Given the description of an element on the screen output the (x, y) to click on. 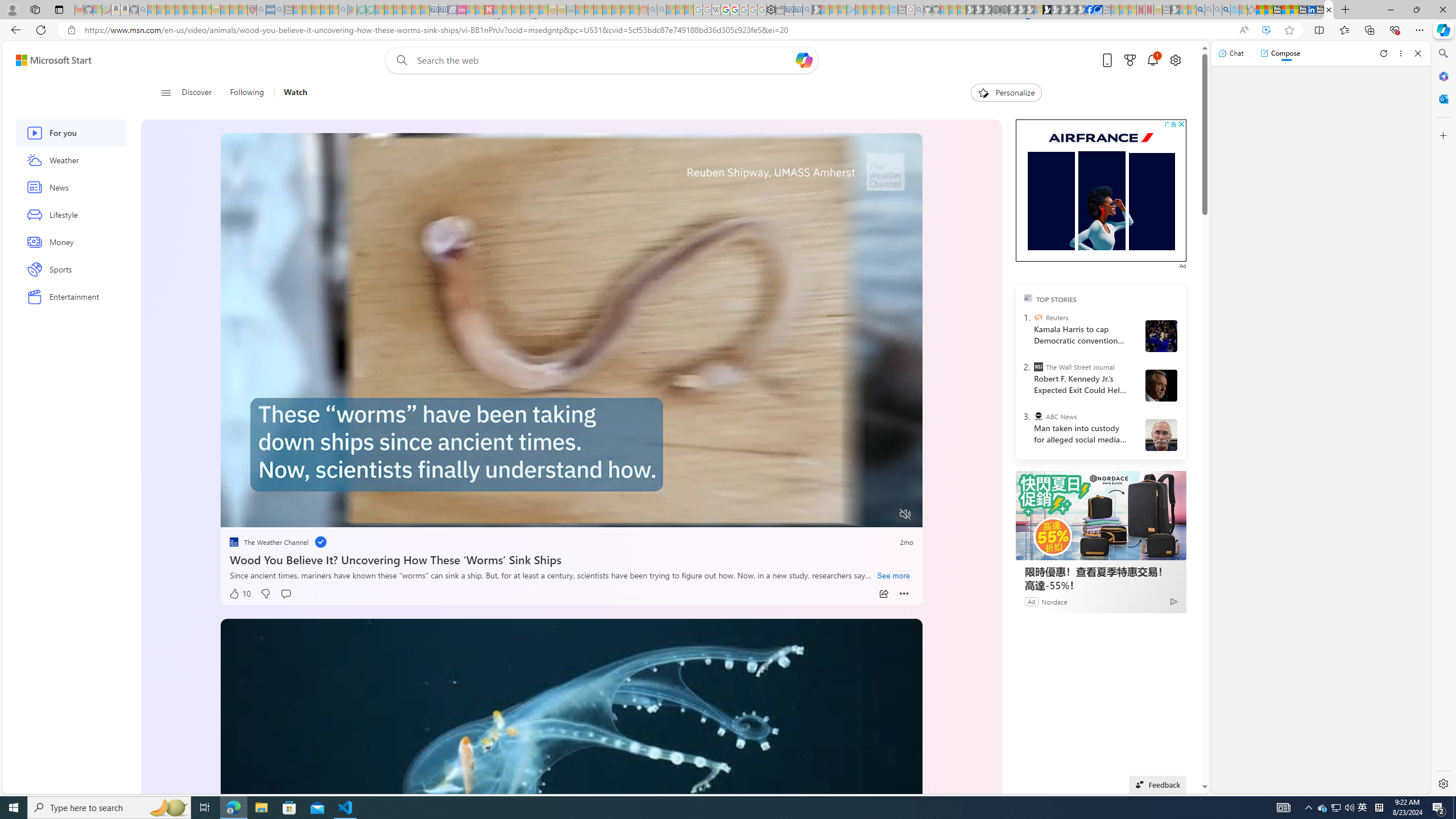
Unmute (905, 514)
Chat (1230, 52)
Progress Bar (571, 500)
Kinda Frugal - MSN - Sleeping (616, 9)
Watch (295, 92)
